Given the description of an element on the screen output the (x, y) to click on. 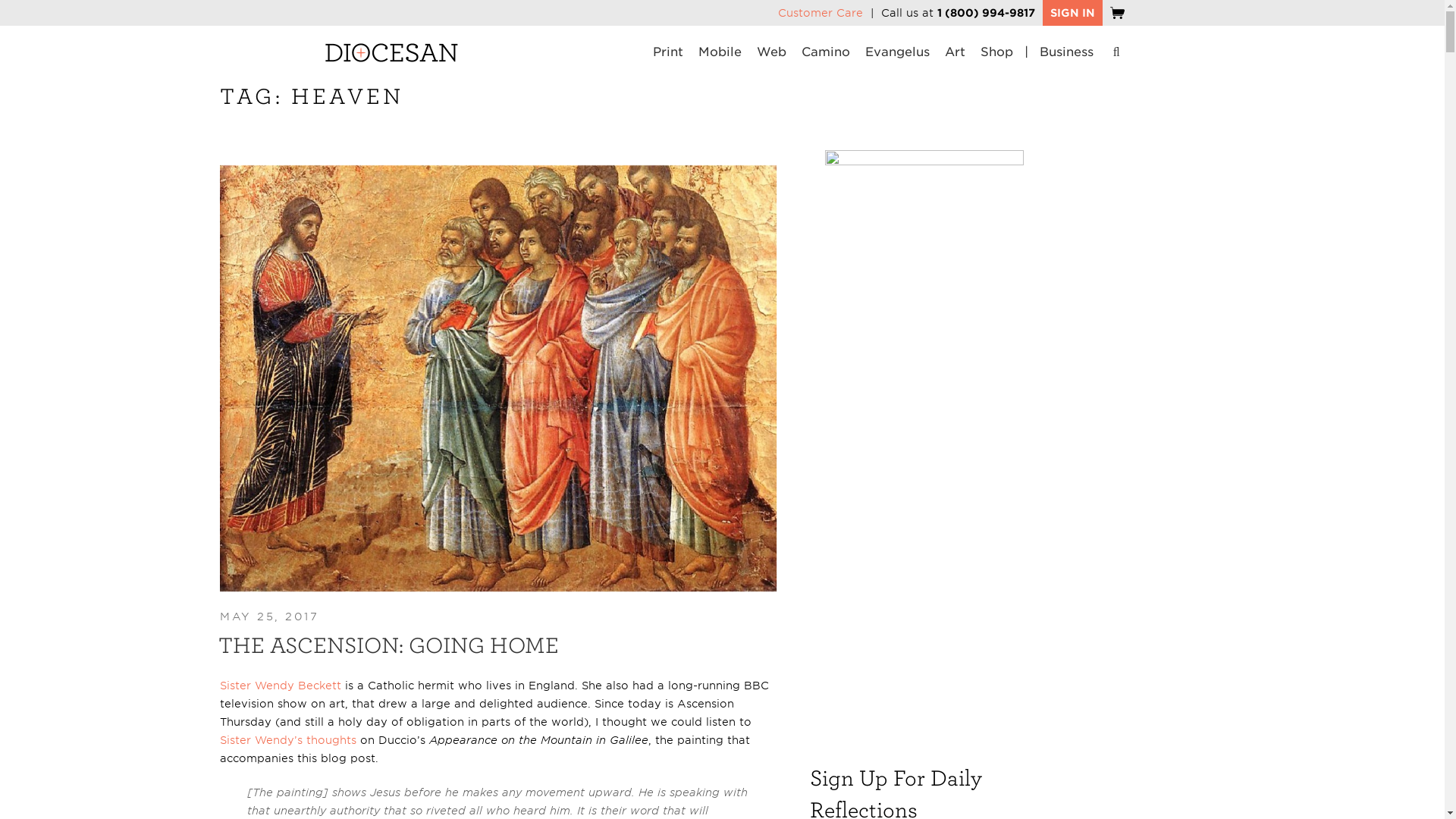
Web (771, 52)
SIGN IN (1072, 12)
Print (667, 52)
Mobile (719, 52)
Customer Care (820, 12)
